Given the description of an element on the screen output the (x, y) to click on. 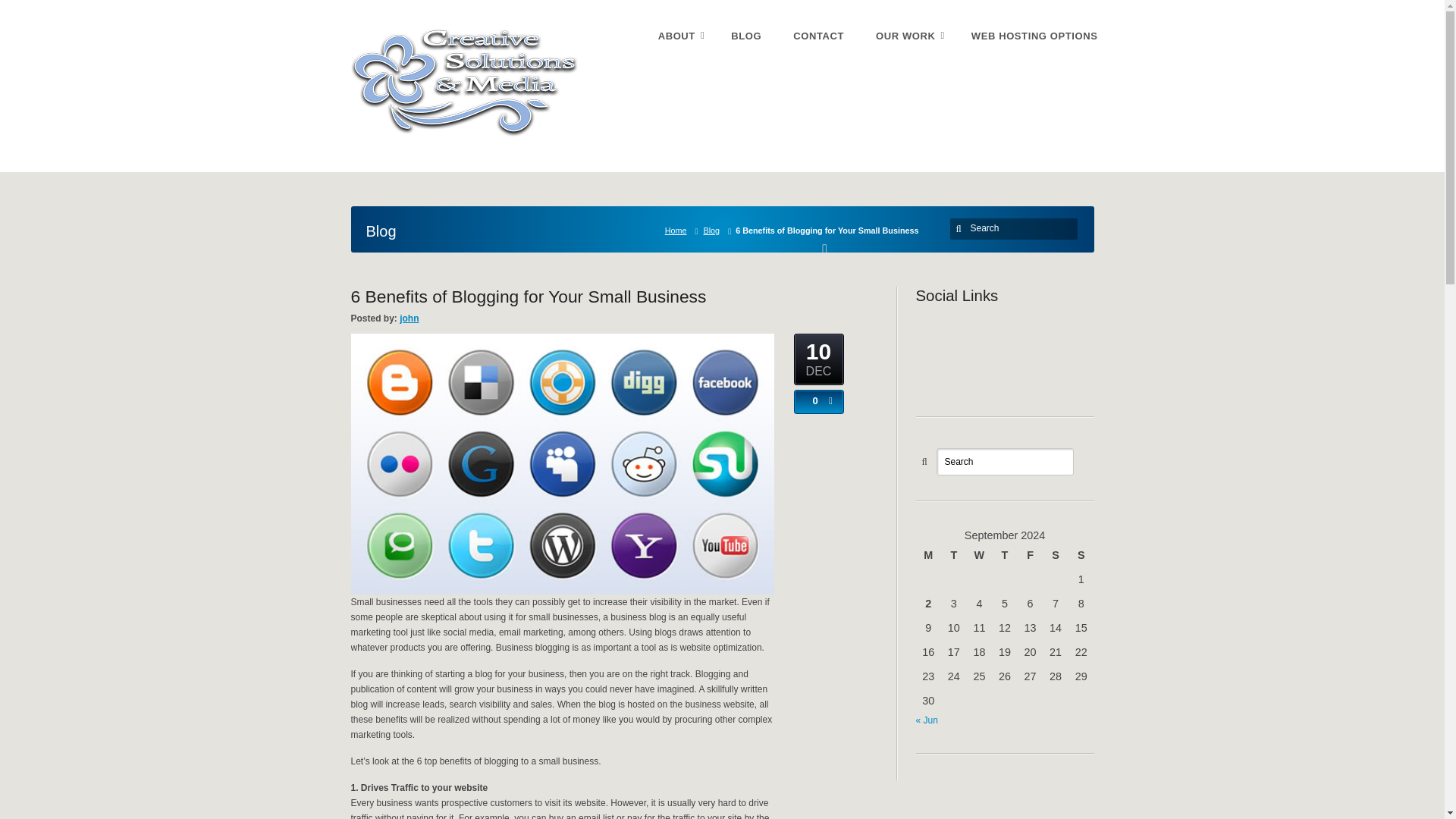
CONTACT (818, 36)
YouTube (1061, 330)
Posts by john (408, 317)
Facebook (994, 330)
Blog (713, 230)
john (408, 317)
Search (1005, 461)
Email (1028, 330)
BLOG (745, 36)
Tuesday (953, 554)
